Given the description of an element on the screen output the (x, y) to click on. 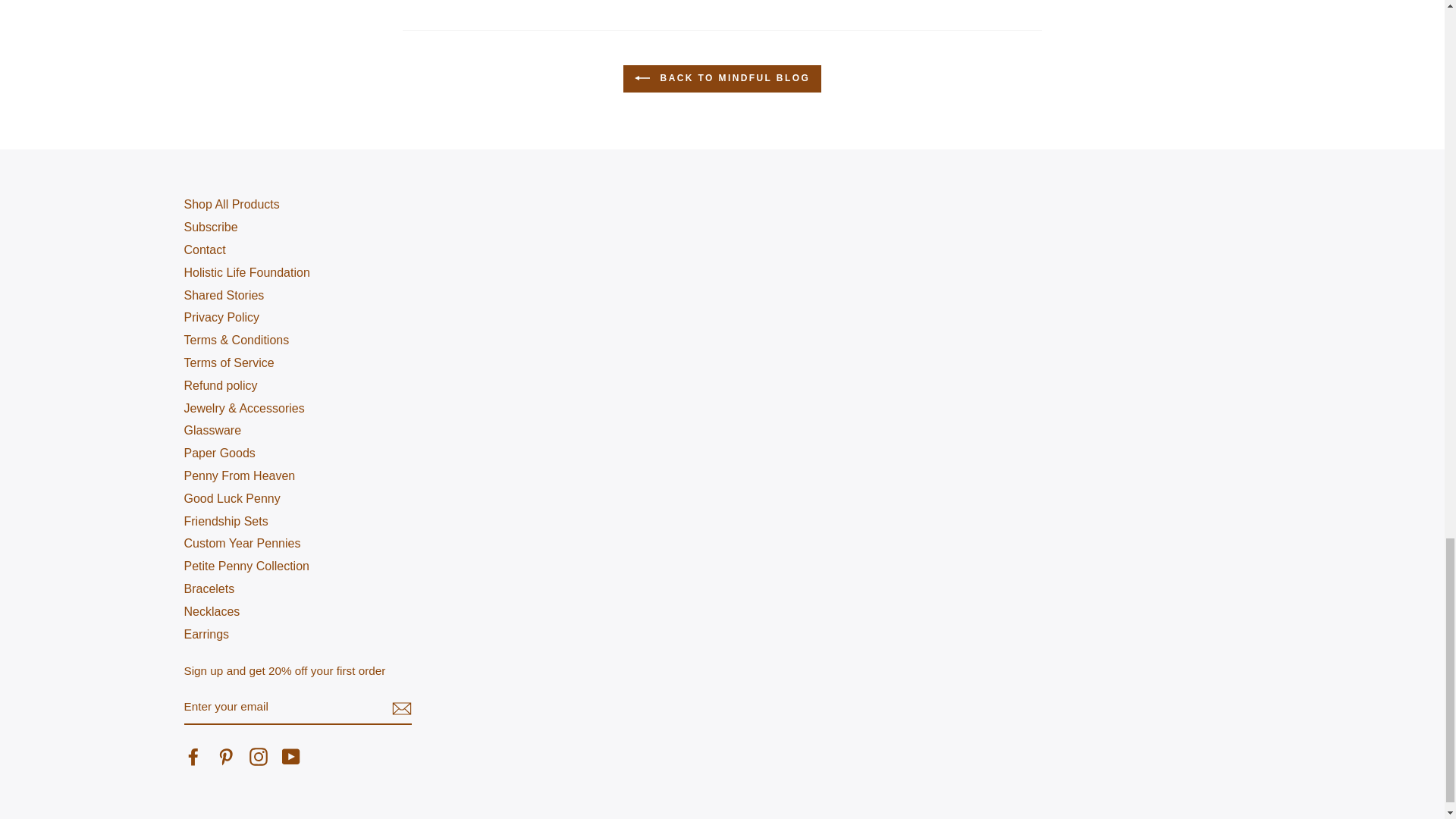
Studio Penny Lane on Instagram (257, 756)
Studio Penny Lane on Facebook (192, 756)
Studio Penny Lane on YouTube (290, 756)
Studio Penny Lane on Pinterest (225, 756)
